Given the description of an element on the screen output the (x, y) to click on. 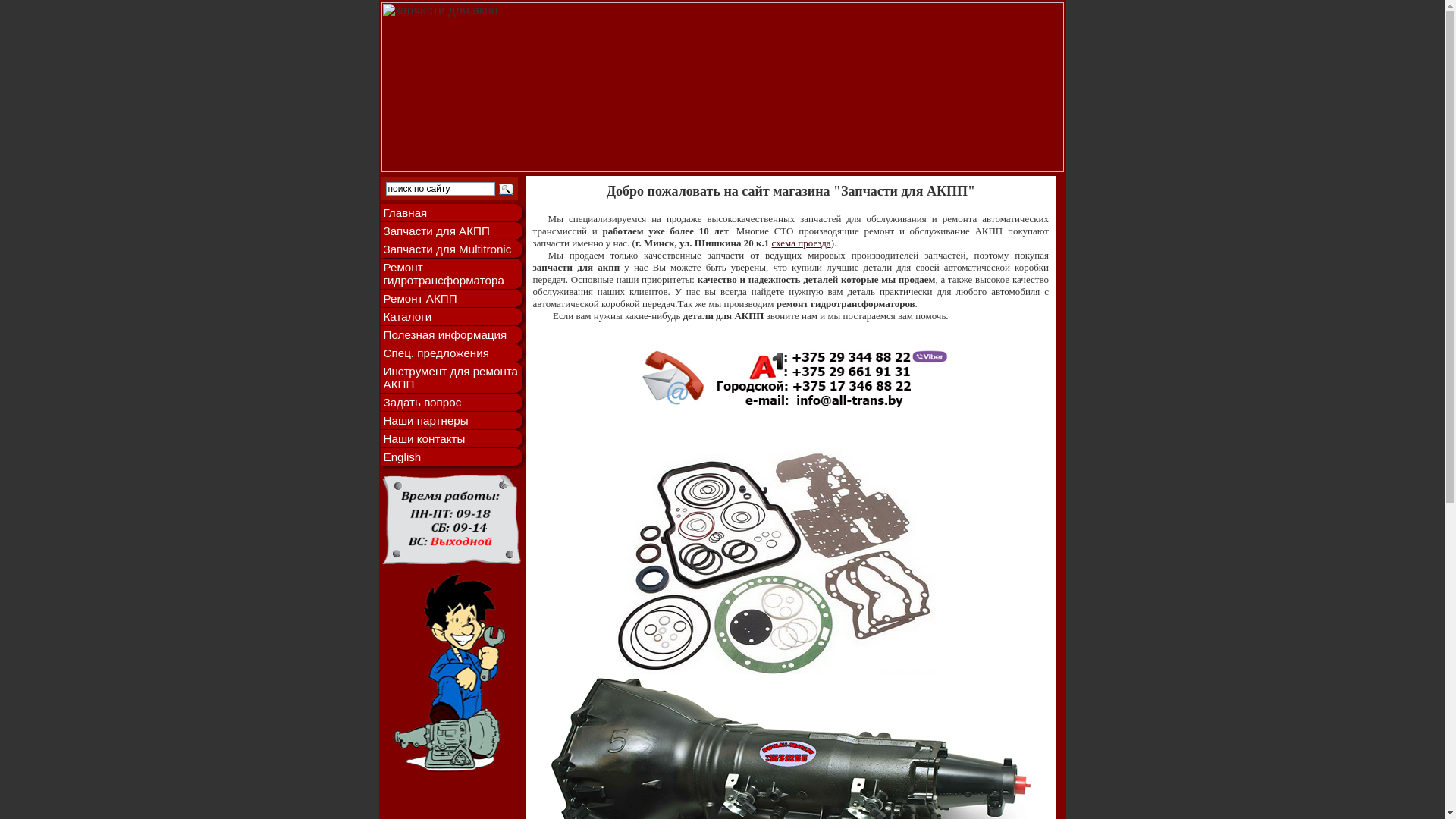
English Element type: text (450, 456)
